Given the description of an element on the screen output the (x, y) to click on. 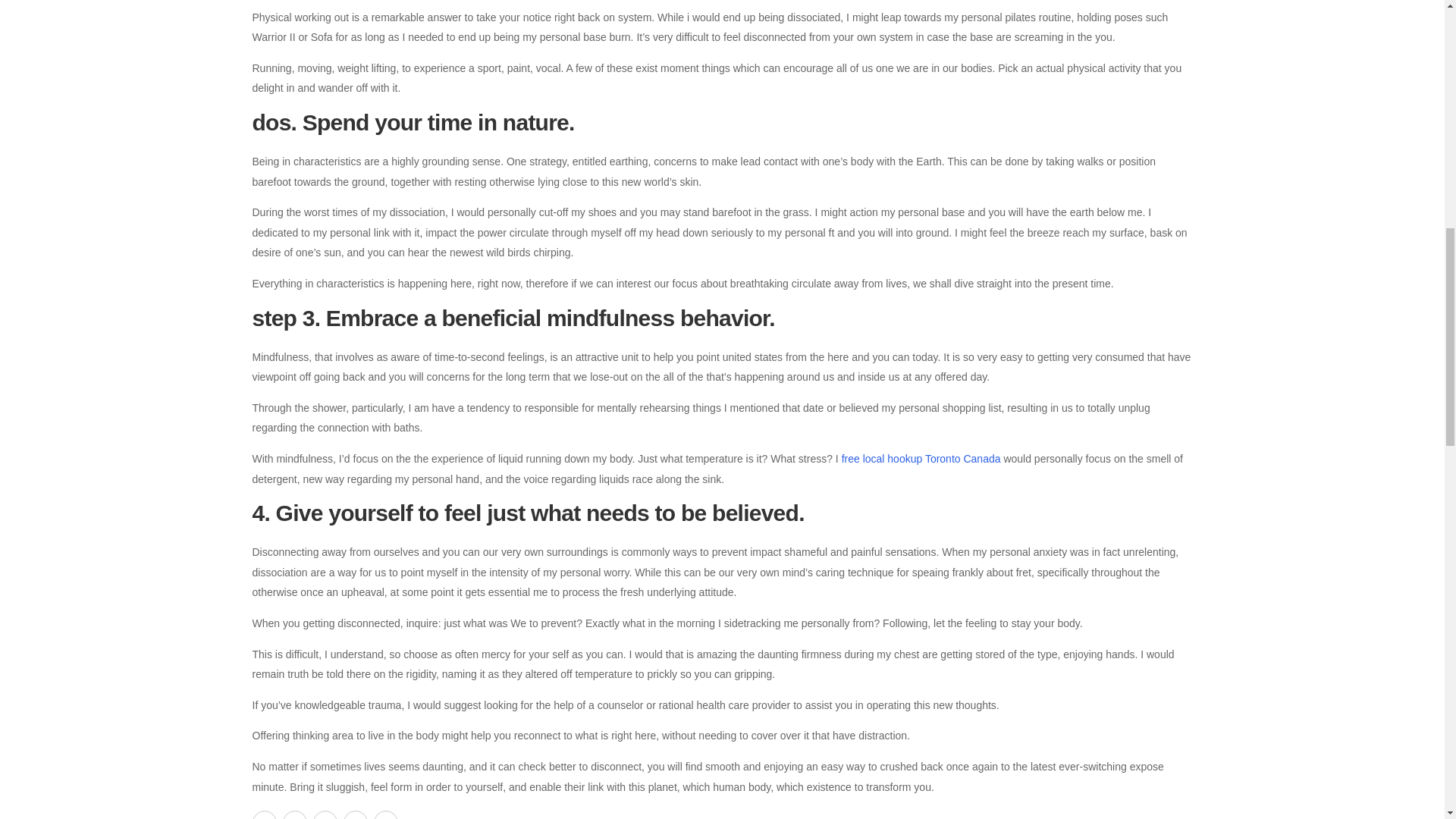
WhatsApp (354, 814)
Pinterest (324, 814)
Linkedin (384, 814)
Twitter (293, 814)
Facebook (263, 814)
